Given the description of an element on the screen output the (x, y) to click on. 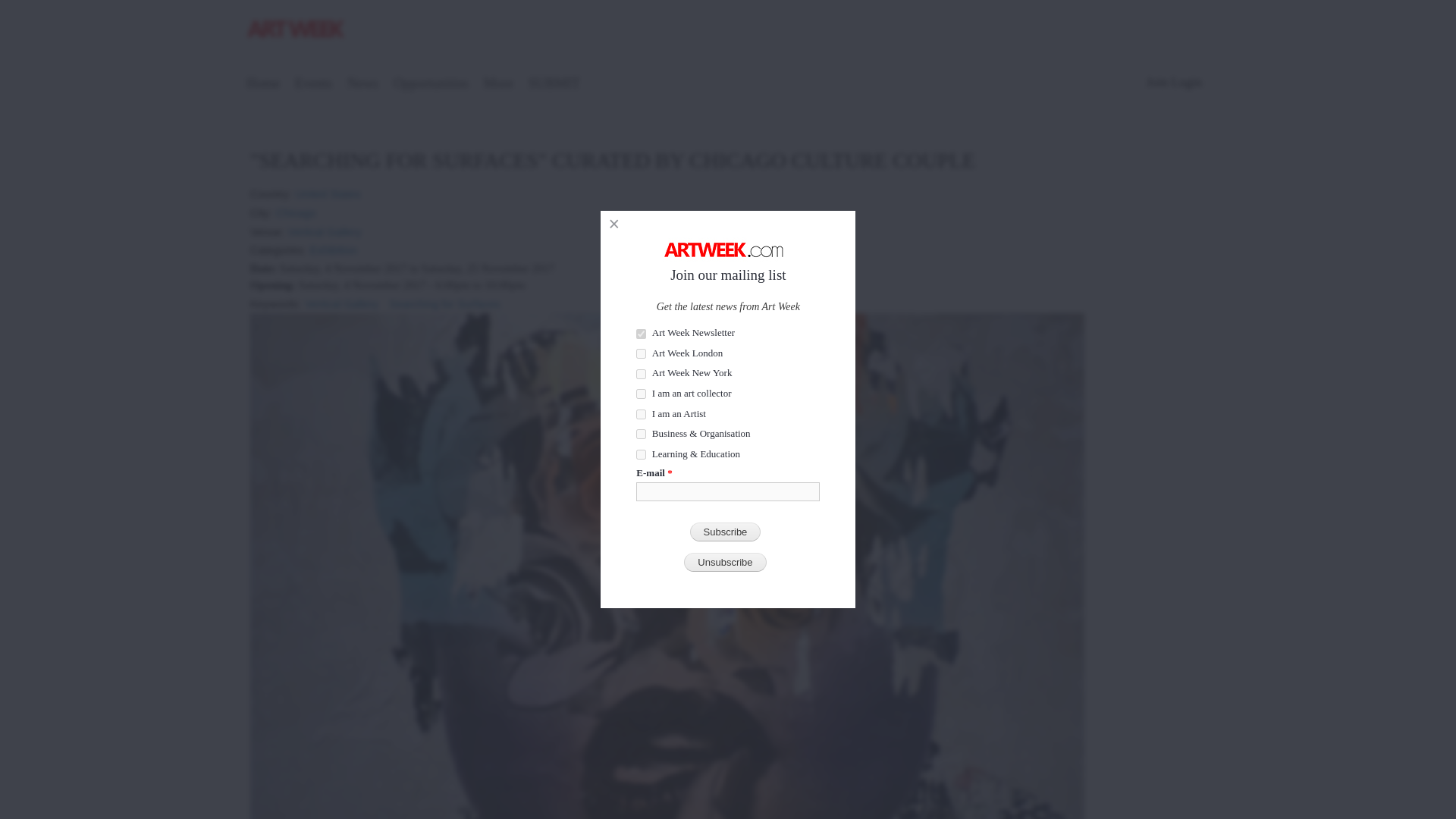
Login (1186, 82)
Home (297, 31)
30824 (641, 374)
Vertical Gallery (341, 298)
Art news (362, 84)
Subscribe (725, 531)
Vertical Gallery (324, 226)
729 (641, 334)
Unsubscribe (724, 561)
11700 (641, 454)
Join (1157, 82)
Skip to main content (695, 1)
Chicago (295, 207)
30823 (641, 353)
Exhibition (333, 245)
